Given the description of an element on the screen output the (x, y) to click on. 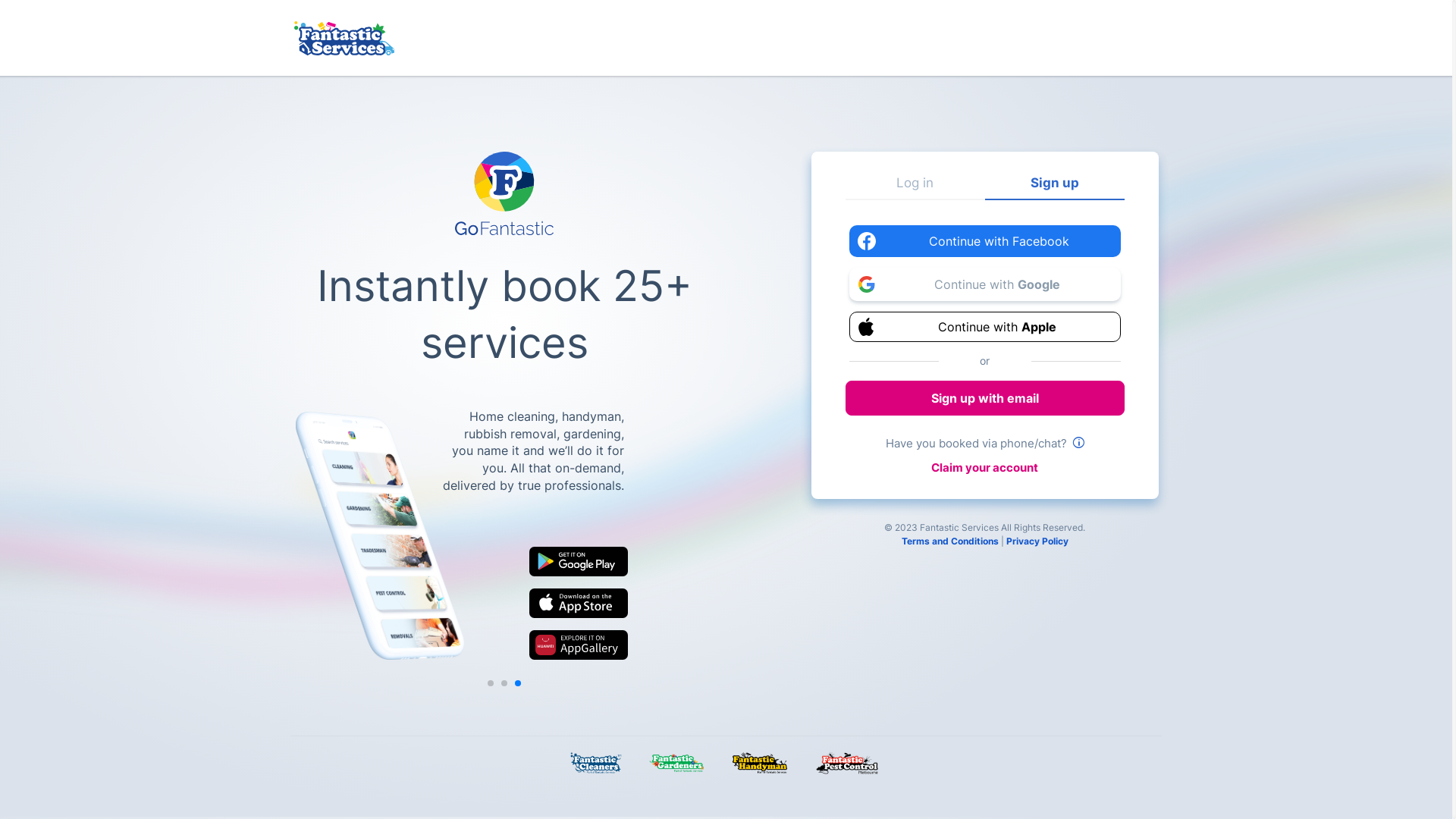
Sign up Element type: text (1054, 187)
Continue with Google Element type: text (984, 284)
Fantastic Handyman Element type: hover (762, 763)
Privacy Policy Element type: text (1037, 540)
Terms and Conditions Element type: text (949, 540)
Web Accounts Element type: hover (344, 38)
Fantastic Cleaners Element type: hover (598, 763)
Log in Element type: text (915, 187)
Fantastic Gardeners Element type: hover (679, 763)
Sign up with email Element type: text (984, 397)
Continue with Facebook Element type: text (984, 241)
Claim your account Element type: text (984, 467)
Fantastic Pest Control Element type: hover (850, 764)
Continue with Apple Element type: text (984, 326)
